Given the description of an element on the screen output the (x, y) to click on. 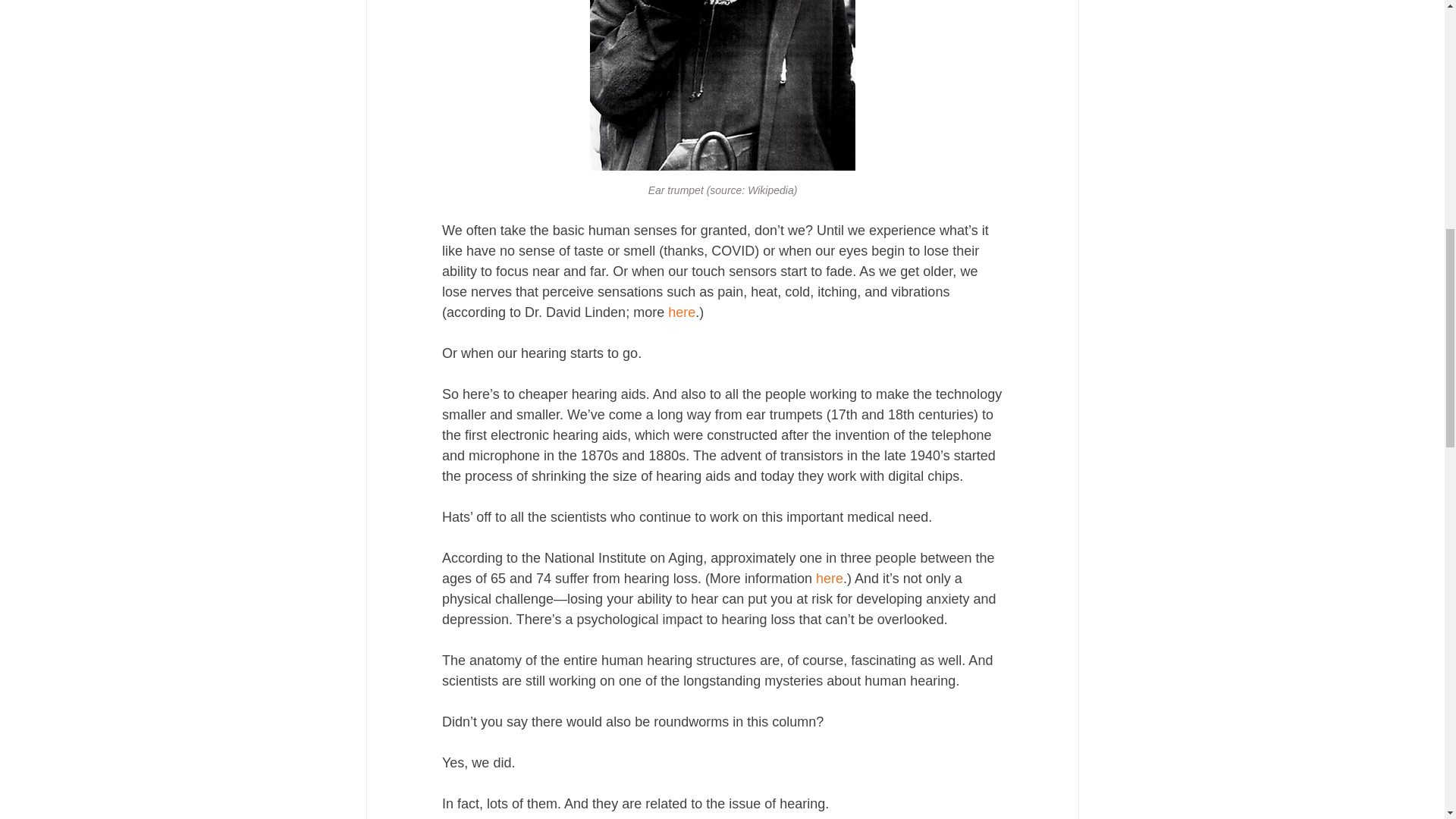
here (829, 578)
here (681, 312)
